Given the description of an element on the screen output the (x, y) to click on. 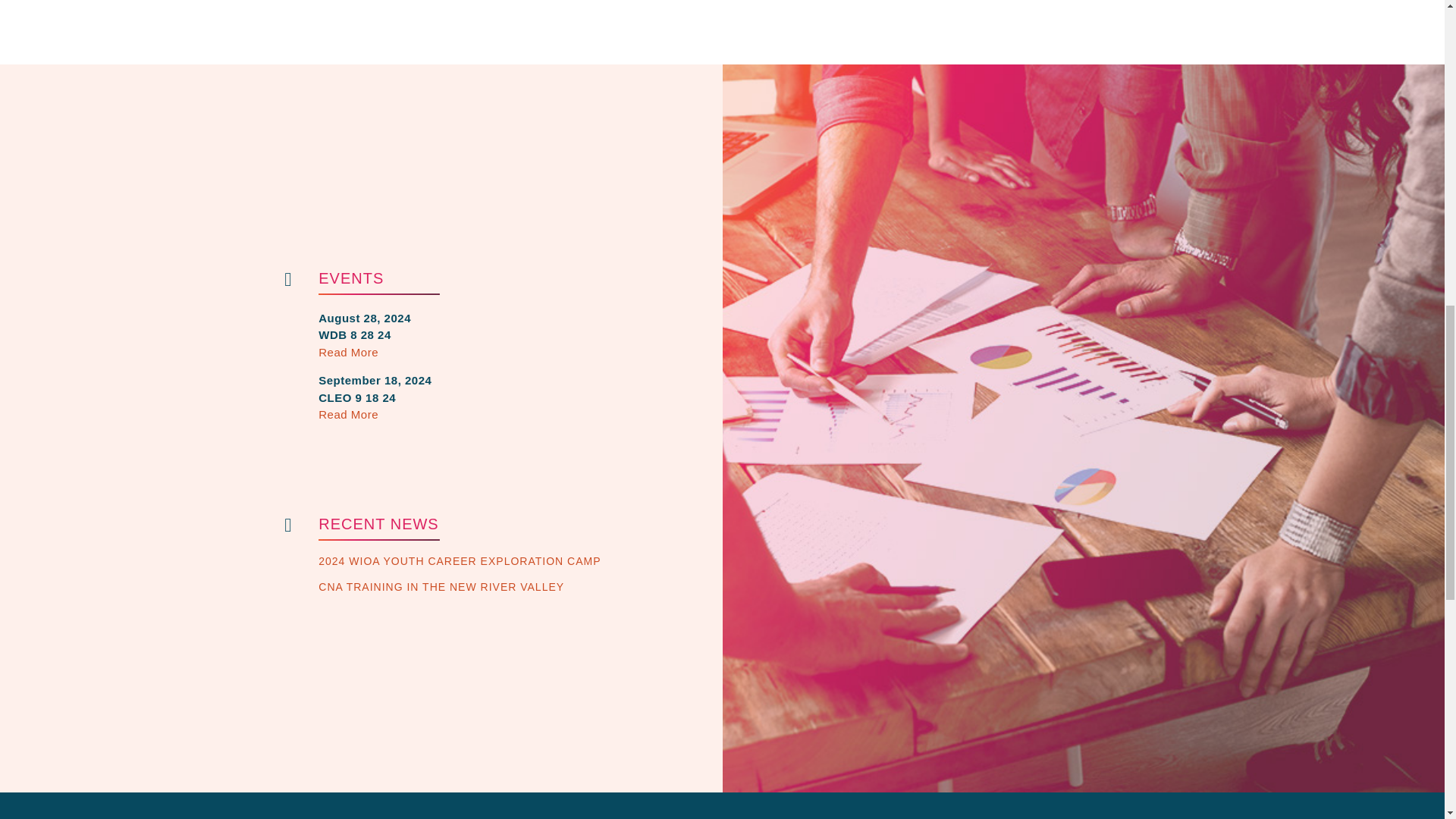
CNA TRAINING IN THE NEW RIVER VALLEY (441, 586)
Read More (348, 351)
Read More (348, 413)
2024 WIOA YOUTH CAREER EXPLORATION CAMP (458, 561)
